Given the description of an element on the screen output the (x, y) to click on. 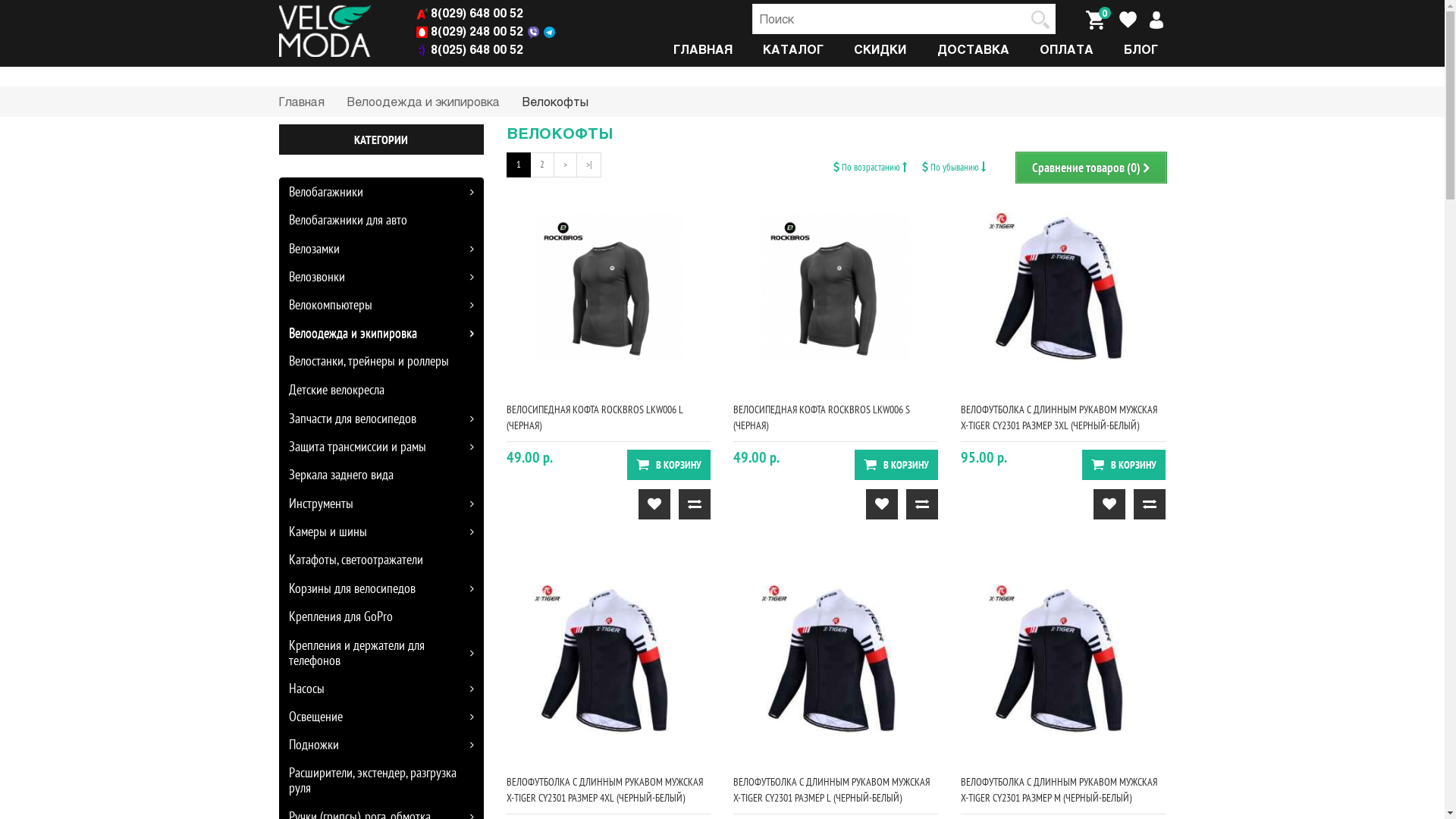
> Element type: text (565, 164)
8(025) 648 00 52 Element type: text (469, 48)
8(029) 248 00 52 Element type: text (469, 30)
8(029) 648 00 52 Element type: text (469, 12)
0 Element type: text (1094, 18)
2 Element type: text (541, 164)
>| Element type: text (588, 164)
